Given the description of an element on the screen output the (x, y) to click on. 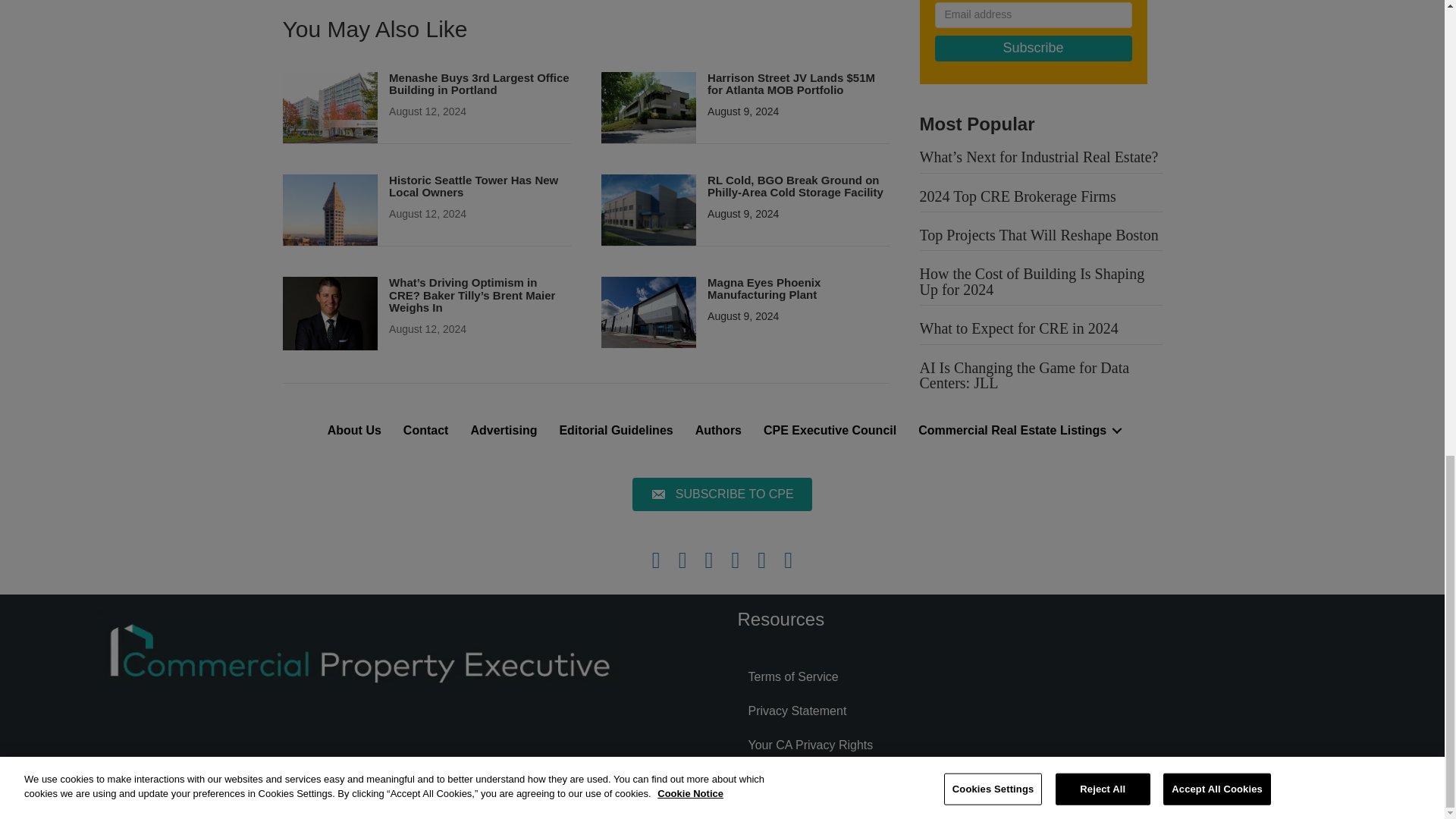
Magna Eyes Phoenix Manufacturing Plant (764, 289)
Menashe Buys 3rd Largest Office Building in Portland (329, 106)
Menashe Buys 3rd Largest Office Building in Portland (478, 84)
Historic Seattle Tower Has New Local Owners (472, 186)
Historic Seattle Tower Has New Local Owners (329, 209)
Magna Eyes Phoenix Manufacturing Plant (647, 311)
